Given the description of an element on the screen output the (x, y) to click on. 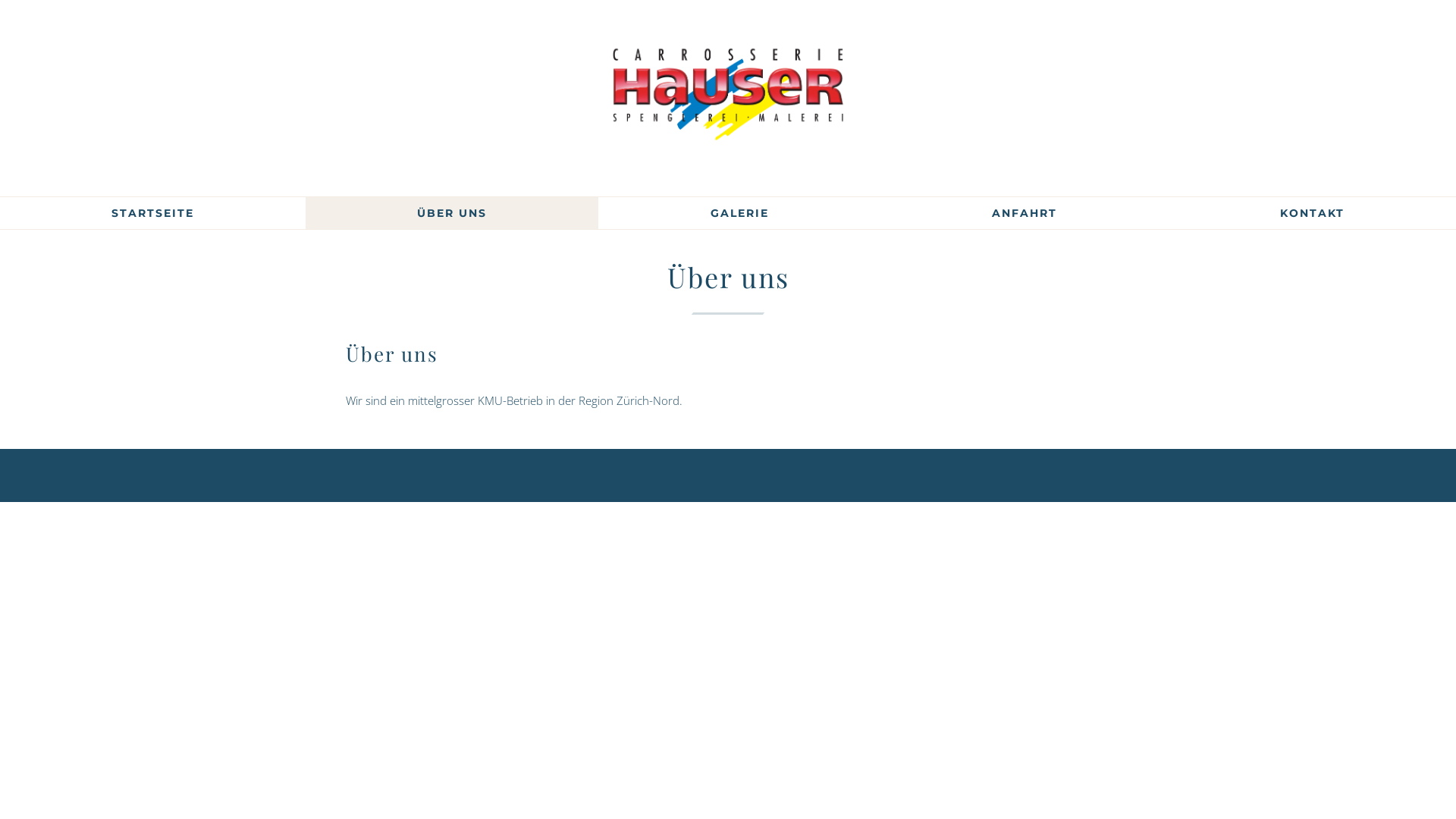
STARTSEITE Element type: text (152, 213)
ANFAHRT Element type: text (1024, 213)
logo Element type: hover (727, 94)
GALERIE Element type: text (738, 213)
